Given the description of an element on the screen output the (x, y) to click on. 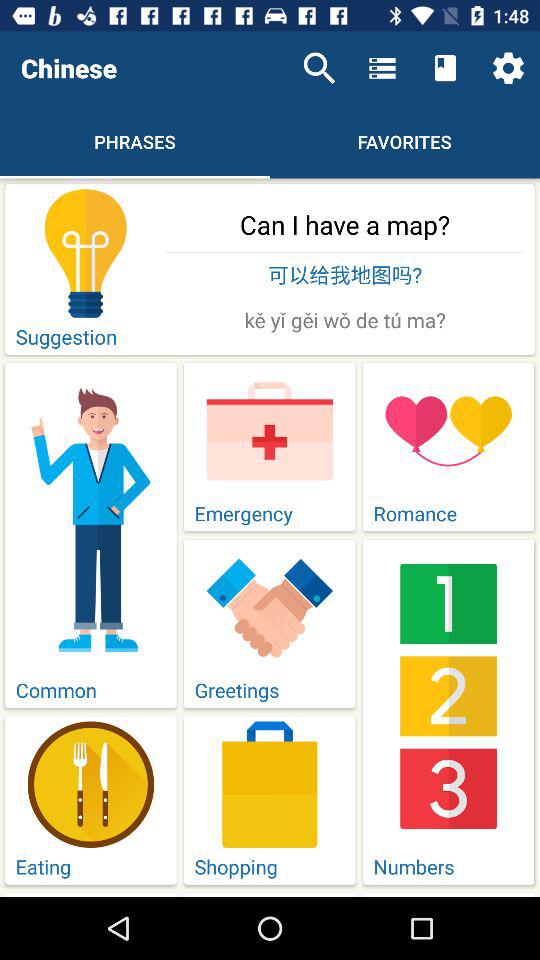
turn off the item above the can i have icon (508, 67)
